Given the description of an element on the screen output the (x, y) to click on. 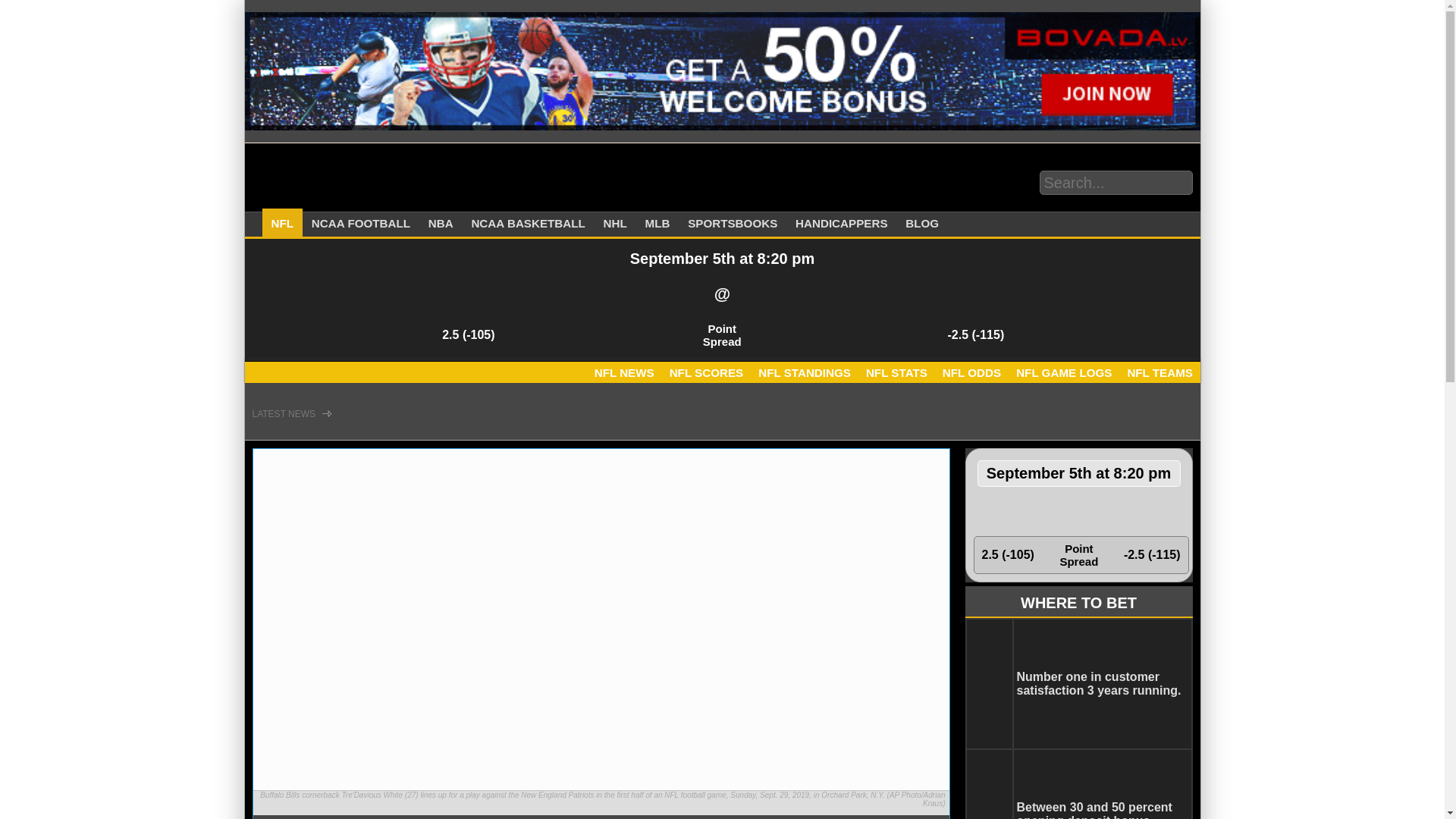
Featured Matchup (721, 299)
Baltimore Ravens (1087, 511)
